Given the description of an element on the screen output the (x, y) to click on. 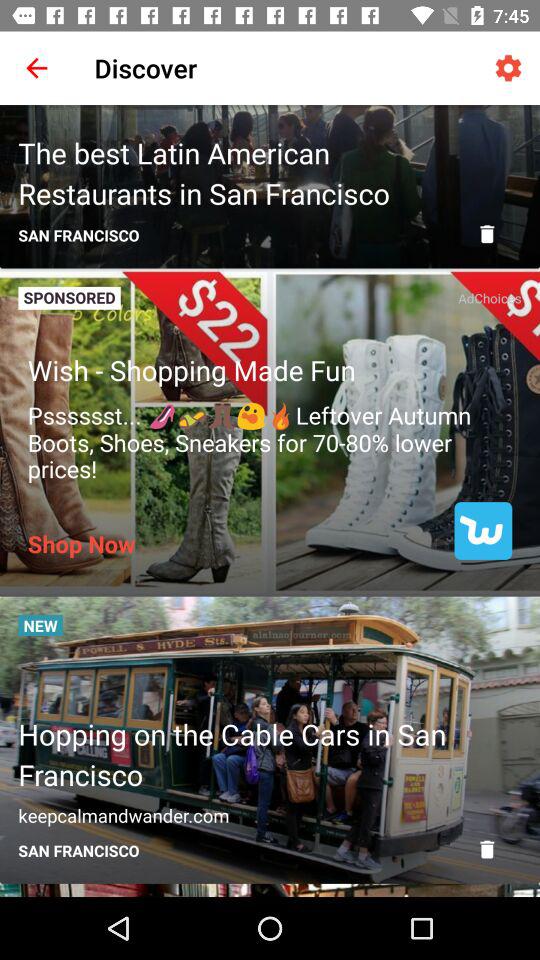
delete image (487, 233)
